Given the description of an element on the screen output the (x, y) to click on. 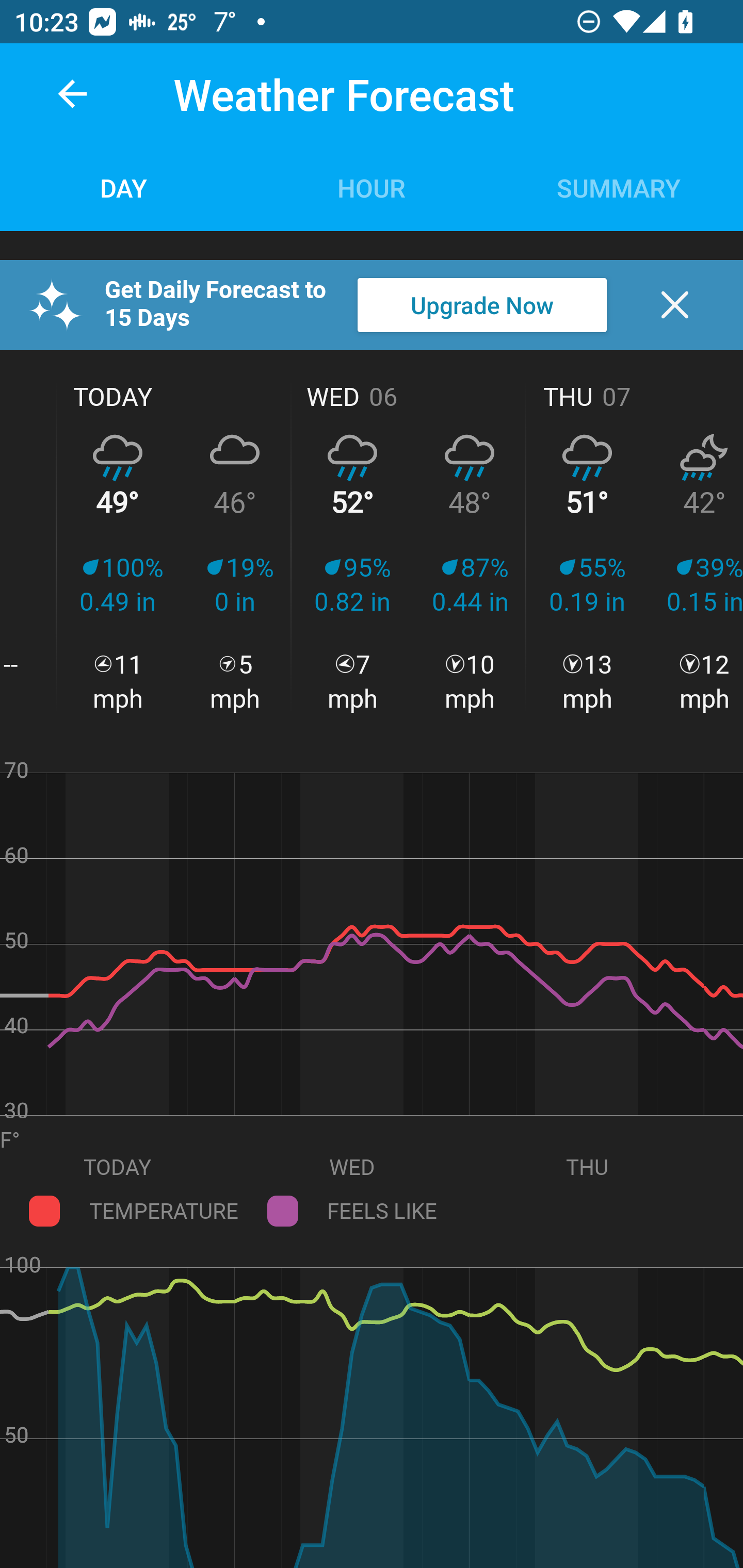
back (71, 93)
Hour Tab HOUR (371, 187)
Summary Tab SUMMARY (619, 187)
Upgrade Now (482, 304)
